Given the description of an element on the screen output the (x, y) to click on. 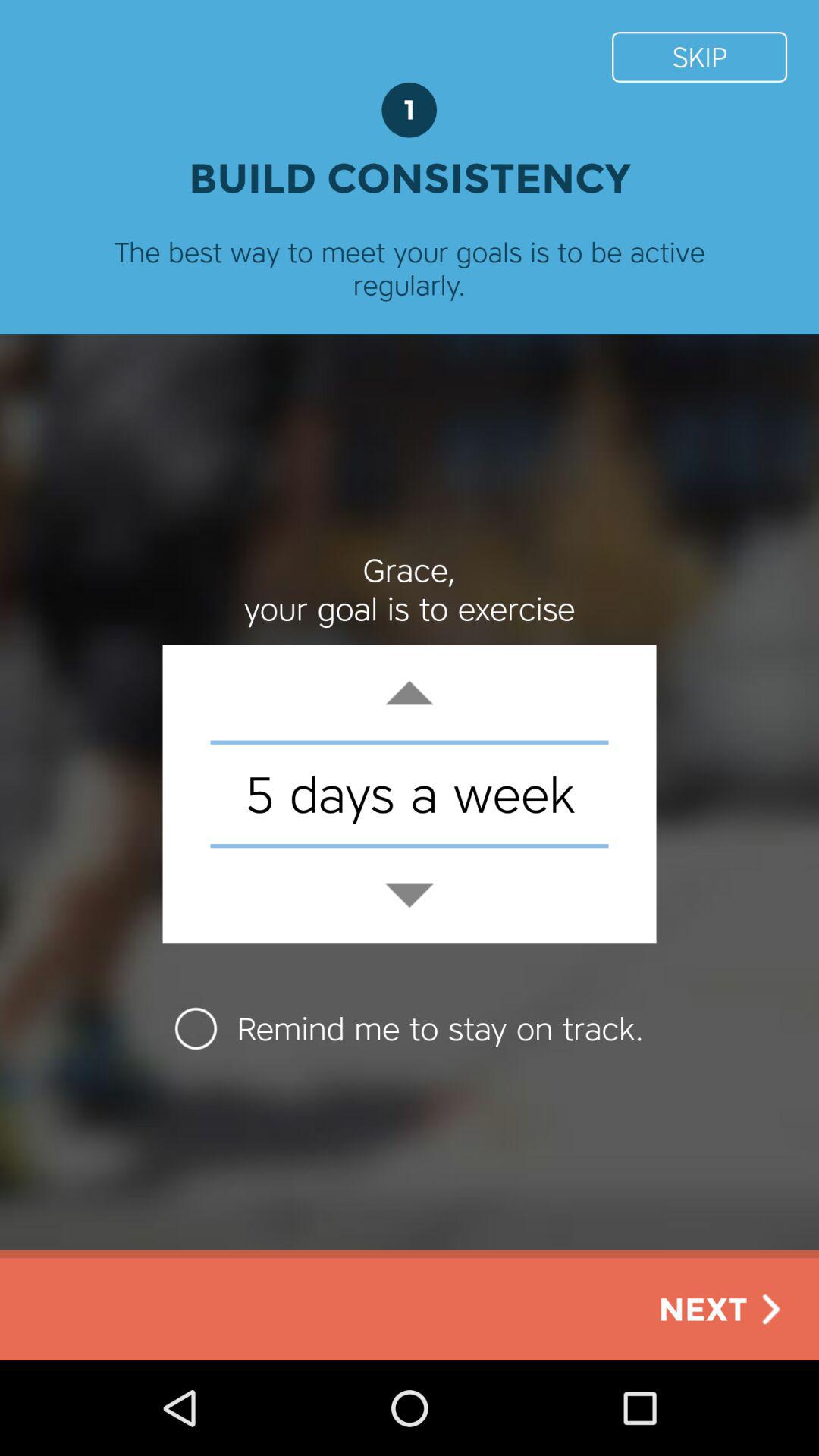
choose the next (722, 1309)
